Given the description of an element on the screen output the (x, y) to click on. 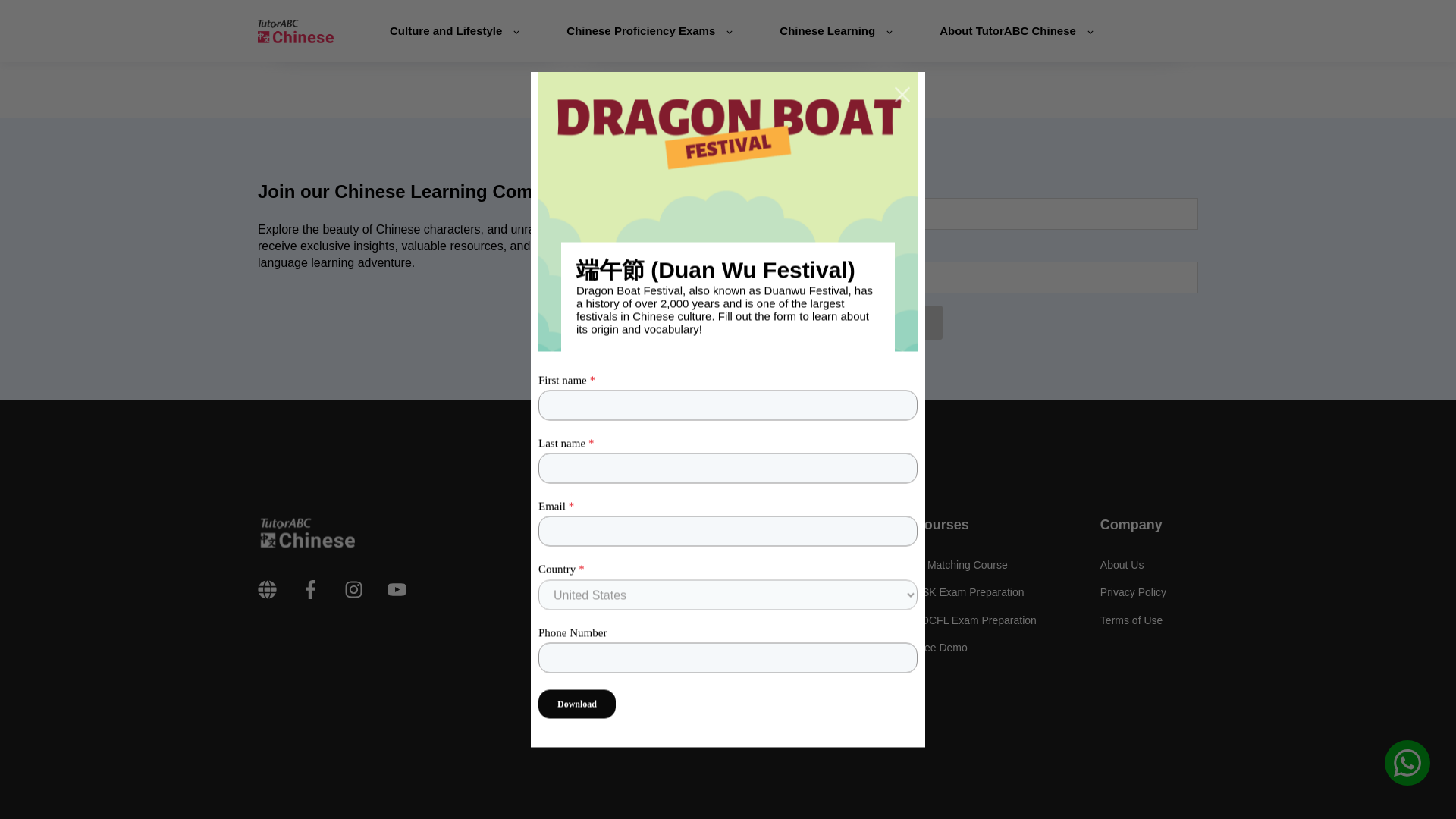
Subscribe (899, 322)
